Given the description of an element on the screen output the (x, y) to click on. 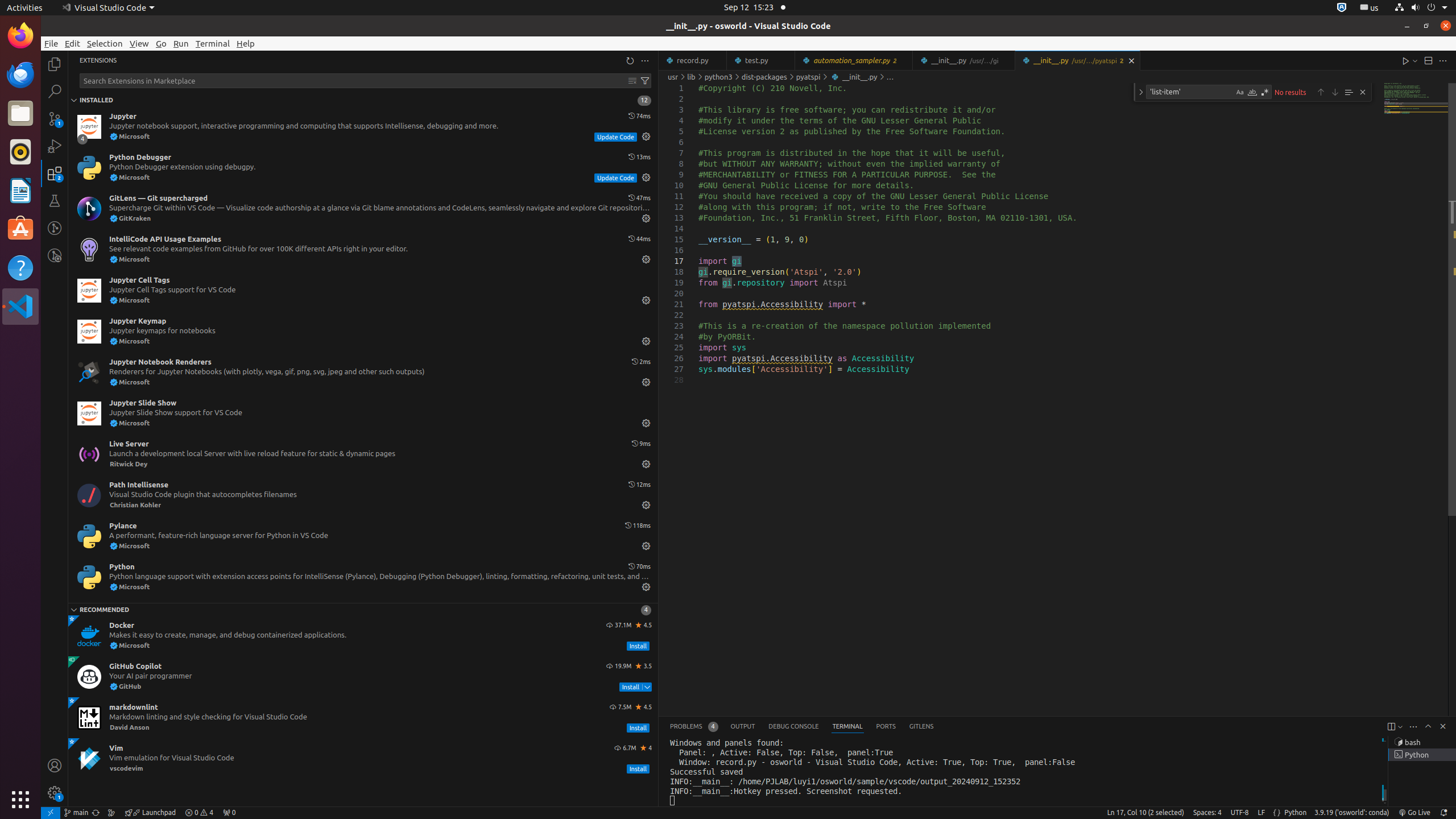
Jupyter Cell Tags, 0.1.9, Verified Publisher Microsoft, Jupyter Cell Tags support for VS Code , Rated 5.00 out of 5 stars by 1 users Element type: list-item (363, 290)
File Element type: push-button (50, 43)
UTF-8 Element type: push-button (1239, 812)
Live Server, 5.7.9, Publisher Ritwick Dey, Launch a development local Server with live reload feature for static & dynamic pages , Rated 4.37 out of 5 stars by 491 users Element type: list-item (363, 453)
Launch Profile... Element type: push-button (1399, 726)
